Given the description of an element on the screen output the (x, y) to click on. 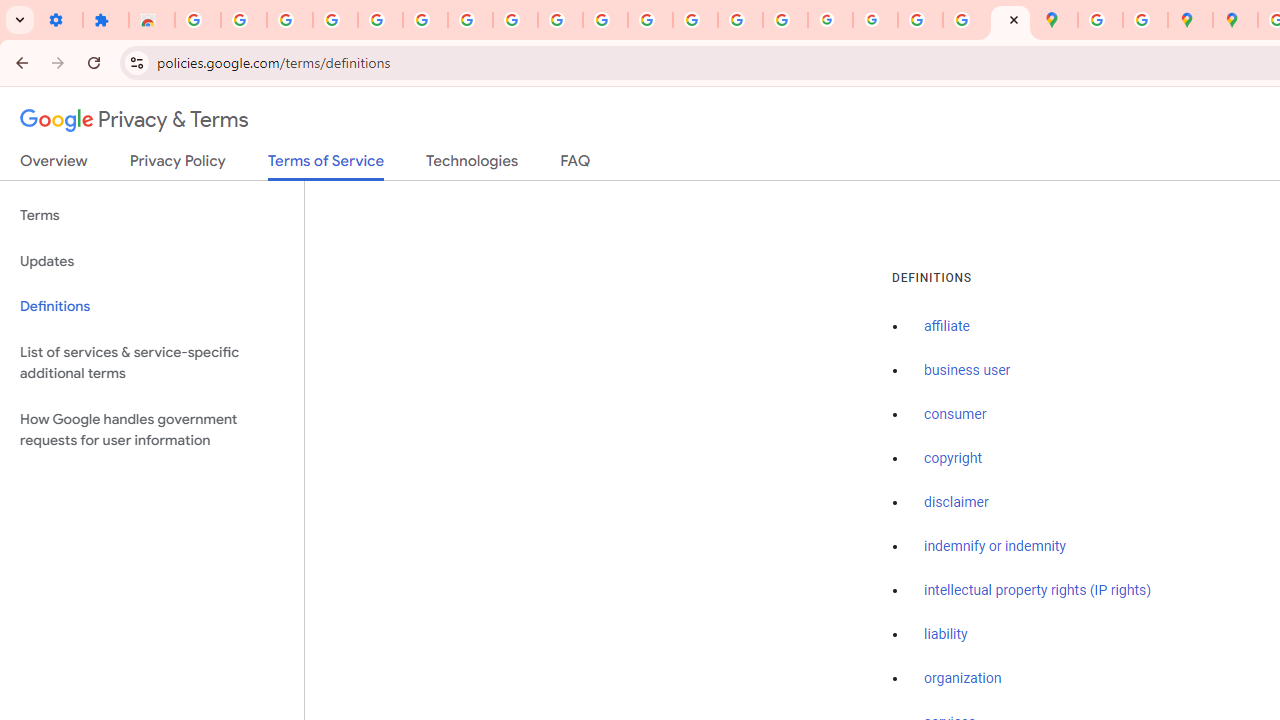
Reviews: Helix Fruit Jump Arcade Game (152, 20)
Privacy & Terms (134, 120)
Extensions (106, 20)
https://scholar.google.com/ (650, 20)
business user (967, 371)
Delete photos & videos - Computer - Google Photos Help (290, 20)
copyright (952, 459)
Terms (152, 215)
